Given the description of an element on the screen output the (x, y) to click on. 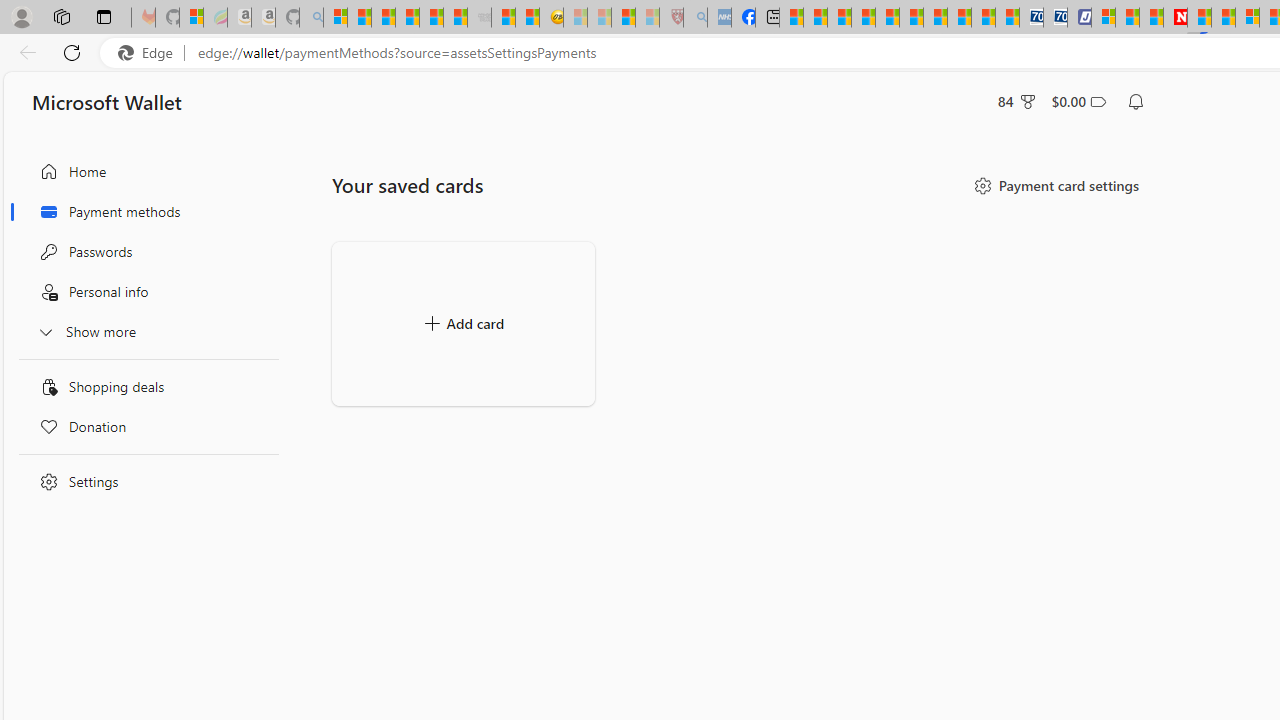
Microsoft Rewards - 84 points (1017, 101)
Cheap Hotels - Save70.com (1055, 17)
Add card (463, 323)
12 Popular Science Lies that Must be Corrected - Sleeping (647, 17)
Personal info (143, 292)
